Given the description of an element on the screen output the (x, y) to click on. 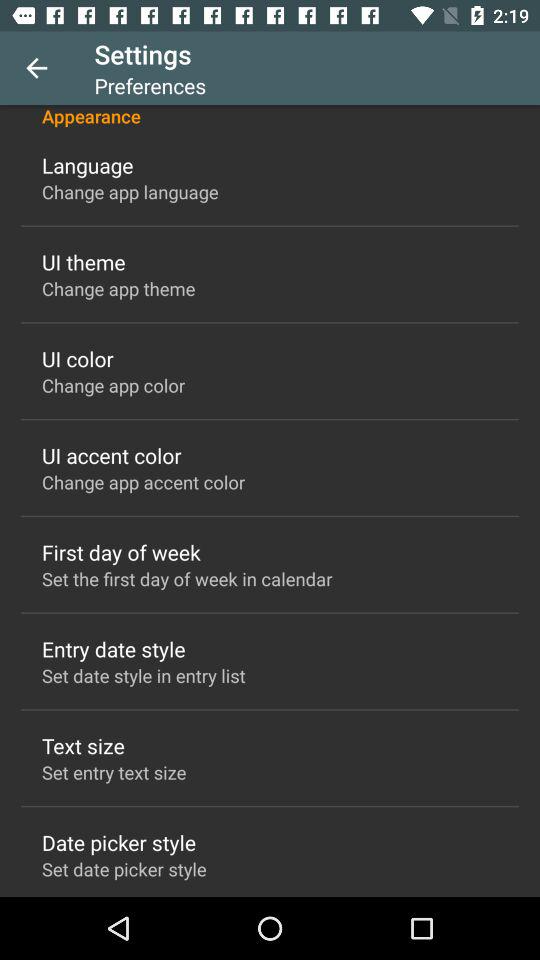
open the icon above language (270, 116)
